Given the description of an element on the screen output the (x, y) to click on. 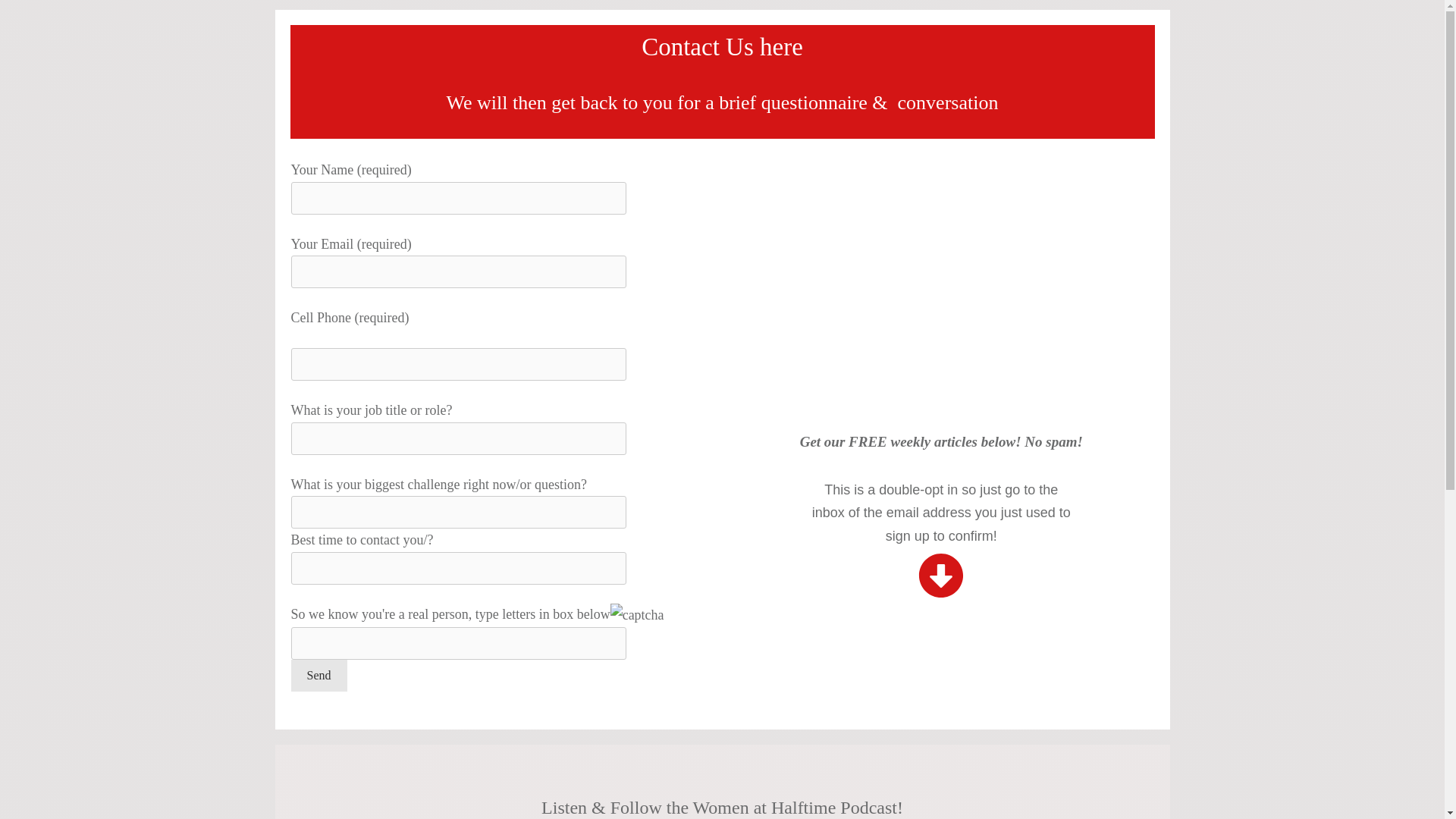
Send (319, 675)
Responsive Video (941, 292)
Send (319, 675)
